Given the description of an element on the screen output the (x, y) to click on. 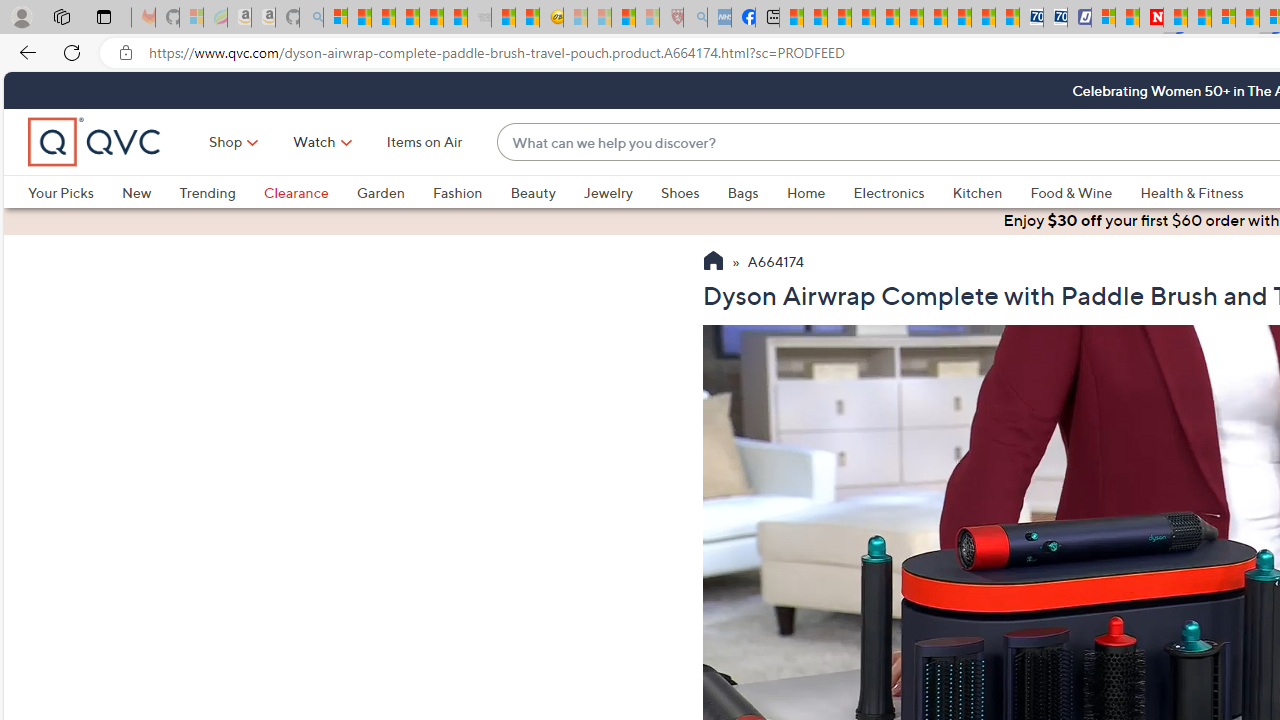
Health & Fitness (1192, 192)
Food & Wine (1071, 192)
14 Common Myths Debunked By Scientific Facts (1198, 17)
12 Popular Science Lies that Must be Corrected - Sleeping (647, 17)
Shop (226, 141)
A664174 (776, 263)
Garden (379, 192)
Jewelry (607, 192)
